Given the description of an element on the screen output the (x, y) to click on. 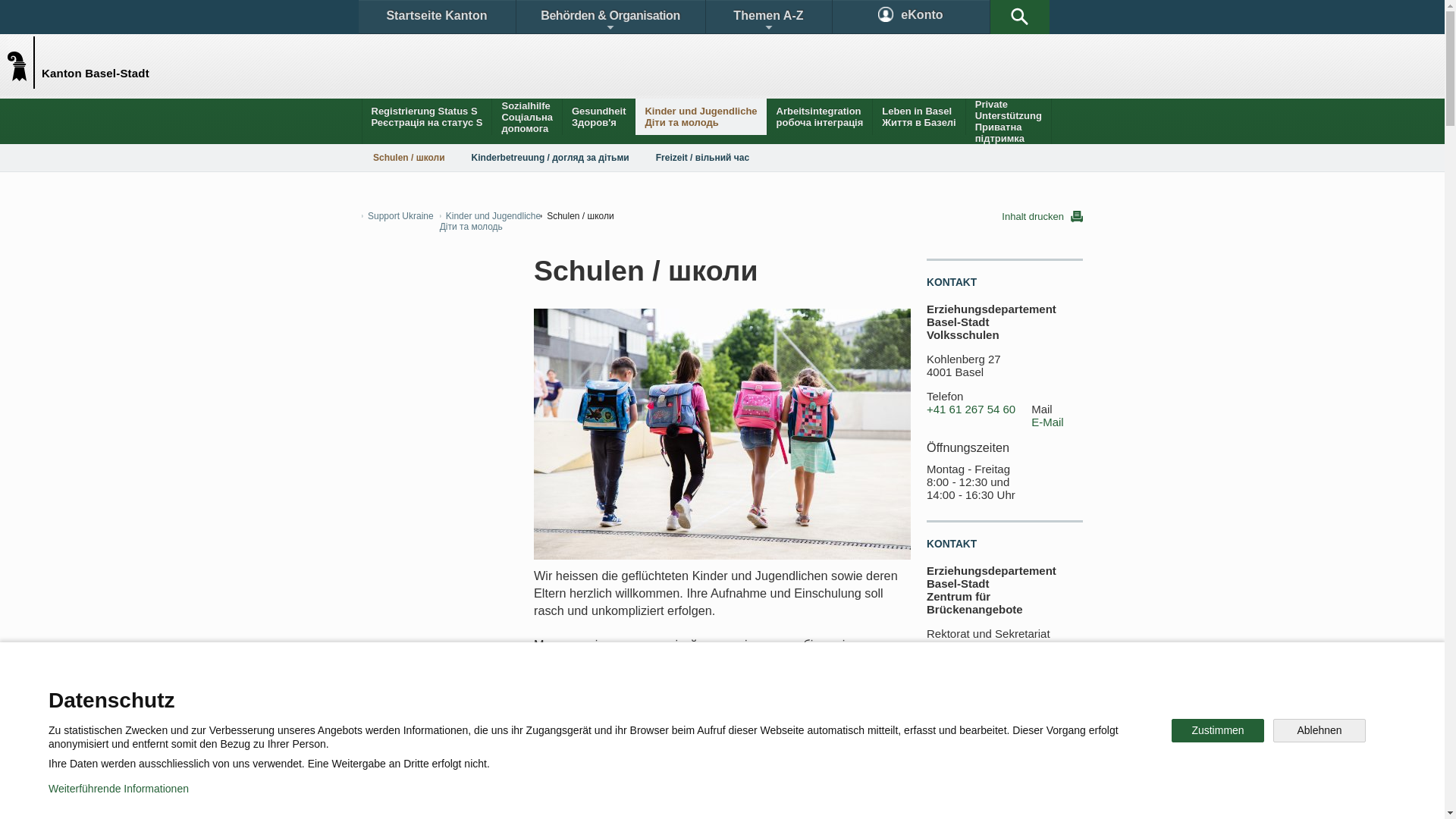
YouTube Element type: text (839, 746)
E-Mail Element type: text (1047, 422)
+41 61 267 54 60 Element type: text (970, 409)
Impressum Element type: text (648, 796)
www.zba-basel.ch Element type: text (1018, 747)
Nutzungsregelungen Element type: text (542, 796)
E-Mail Element type: text (1047, 733)
Bild & Multimedia Element type: text (908, 693)
Startseite Kanton Element type: text (435, 17)
Zur mobilen Ansicht Element type: text (752, 796)
Kanton Basel-Stadt Element type: text (24, 62)
Instagram Element type: text (738, 746)
Facebook Element type: text (547, 746)
eKonto Element type: text (910, 17)
Zustimmen Element type: text (1217, 730)
Statistiken Element type: text (687, 693)
Kontakt Element type: text (406, 693)
Support Ukraine Element type: text (397, 215)
Twitter Element type: text (642, 746)
Themen A-Z Element type: text (768, 17)
+41 61 267 58 00 Element type: text (970, 721)
Publikationen Element type: text (795, 693)
Ablehnen Element type: text (1319, 730)
Gesetze Element type: text (597, 693)
Stadtplan & Karte Element type: text (504, 693)
Inhalt drucken Element type: text (1041, 216)
